Given the description of an element on the screen output the (x, y) to click on. 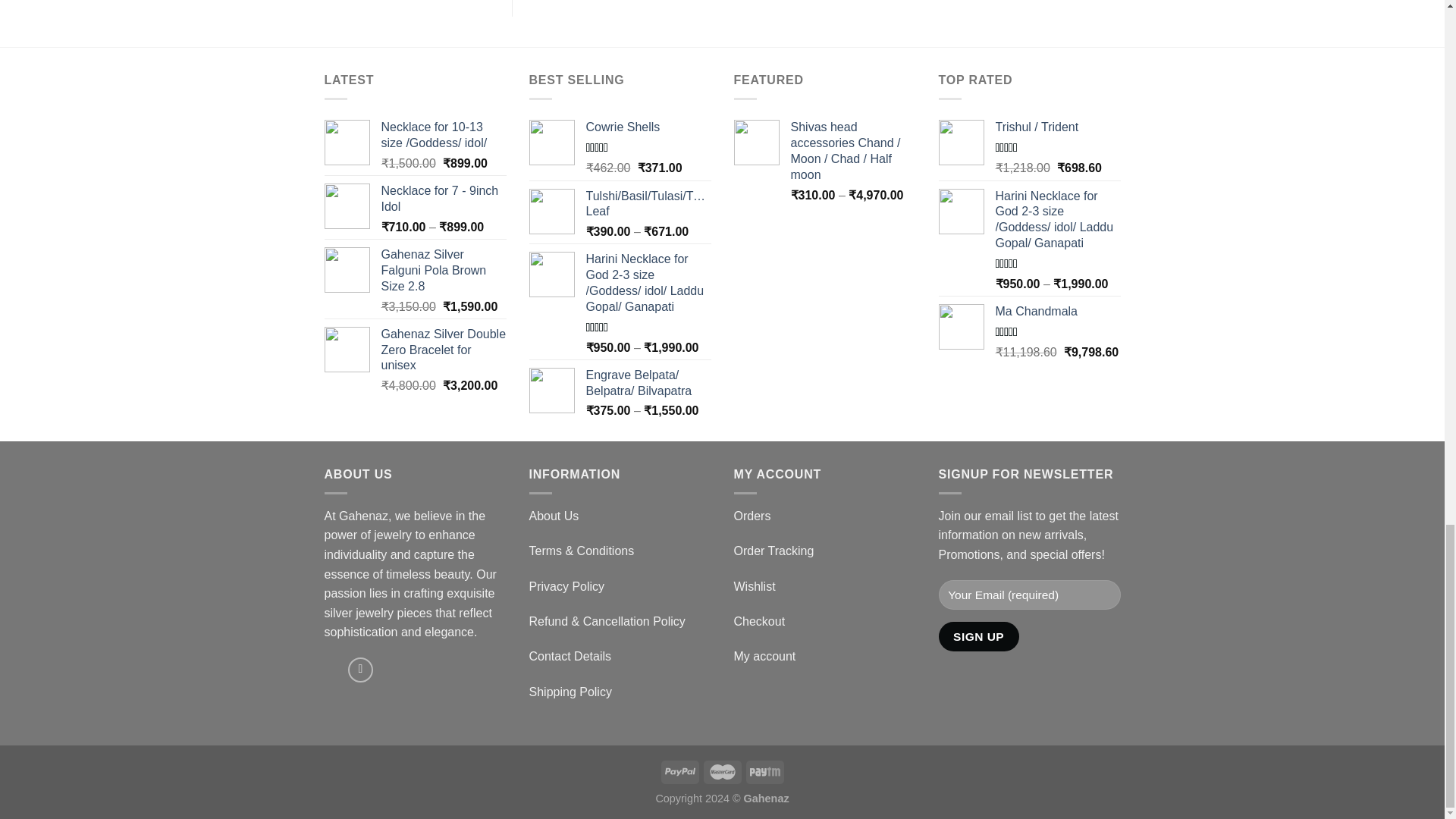
Sign Up (979, 636)
Follow on Facebook (359, 669)
